Given the description of an element on the screen output the (x, y) to click on. 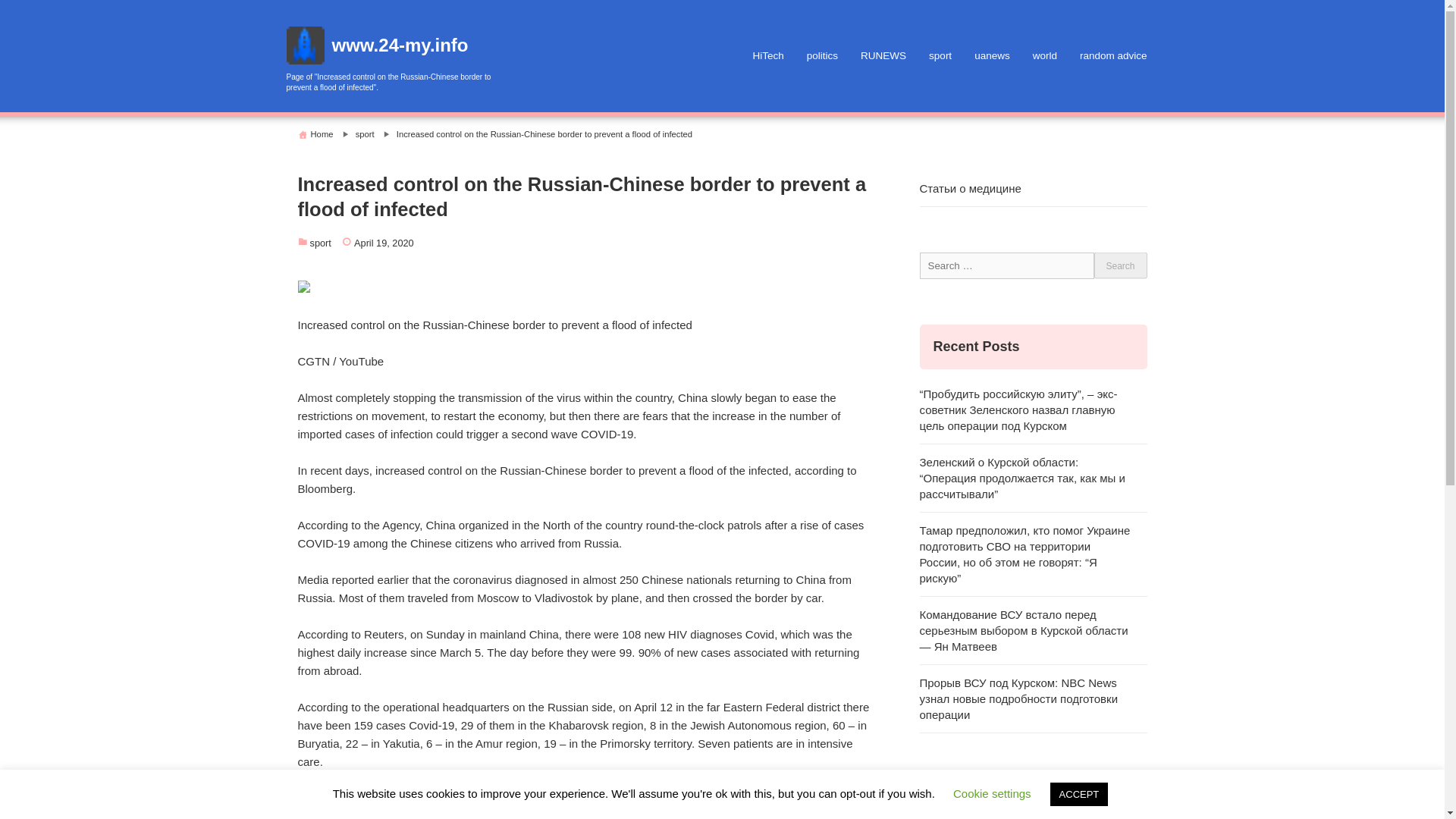
Search (1120, 265)
random advice (1113, 55)
Cookie settings (991, 793)
Advertisement (585, 809)
sport (364, 133)
RUNEWS (882, 55)
HiTech (767, 55)
uanews (992, 55)
Search (1120, 265)
